Given the description of an element on the screen output the (x, y) to click on. 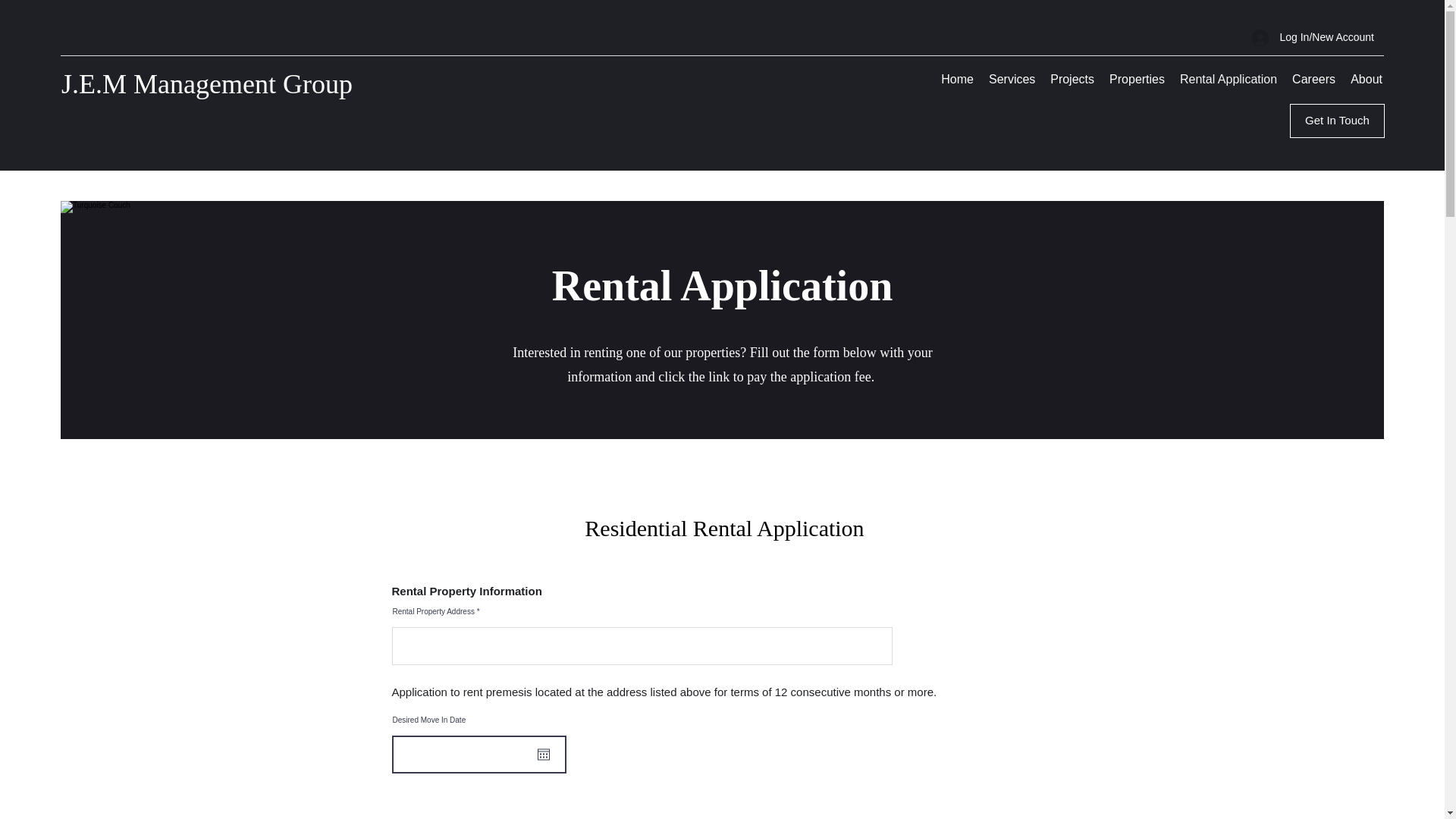
Home (957, 79)
About (1366, 79)
Services (1011, 79)
J.E.M Management Group (206, 83)
Projects (1072, 79)
Rental Application (1228, 79)
Properties (1137, 79)
Careers (1313, 79)
Get In Touch (1337, 121)
